Given the description of an element on the screen output the (x, y) to click on. 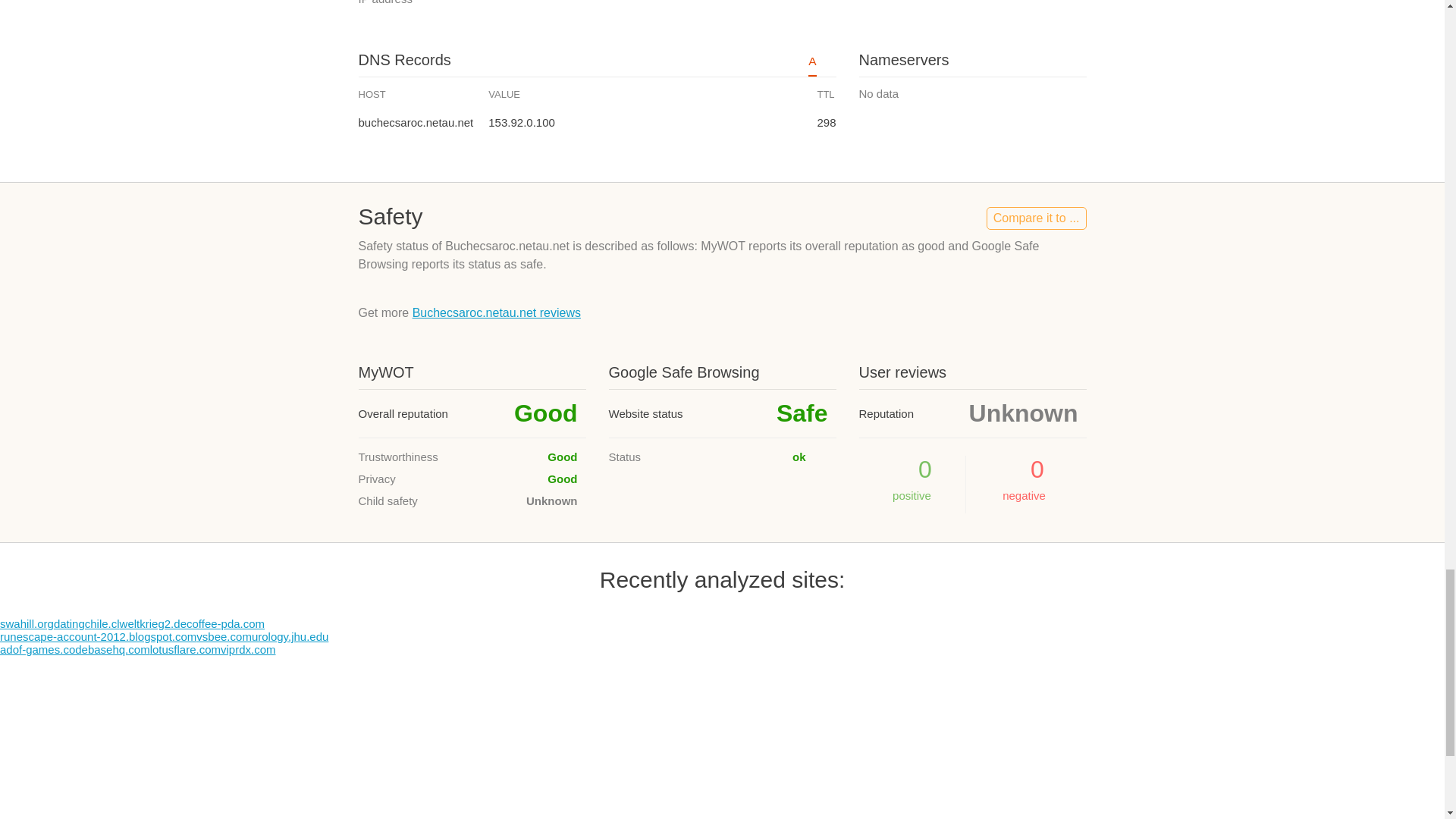
swahill.org (26, 623)
Compare it to ... (1036, 218)
Buchecsaroc.netau.net reviews (496, 312)
datingchile.cl (86, 623)
